Given the description of an element on the screen output the (x, y) to click on. 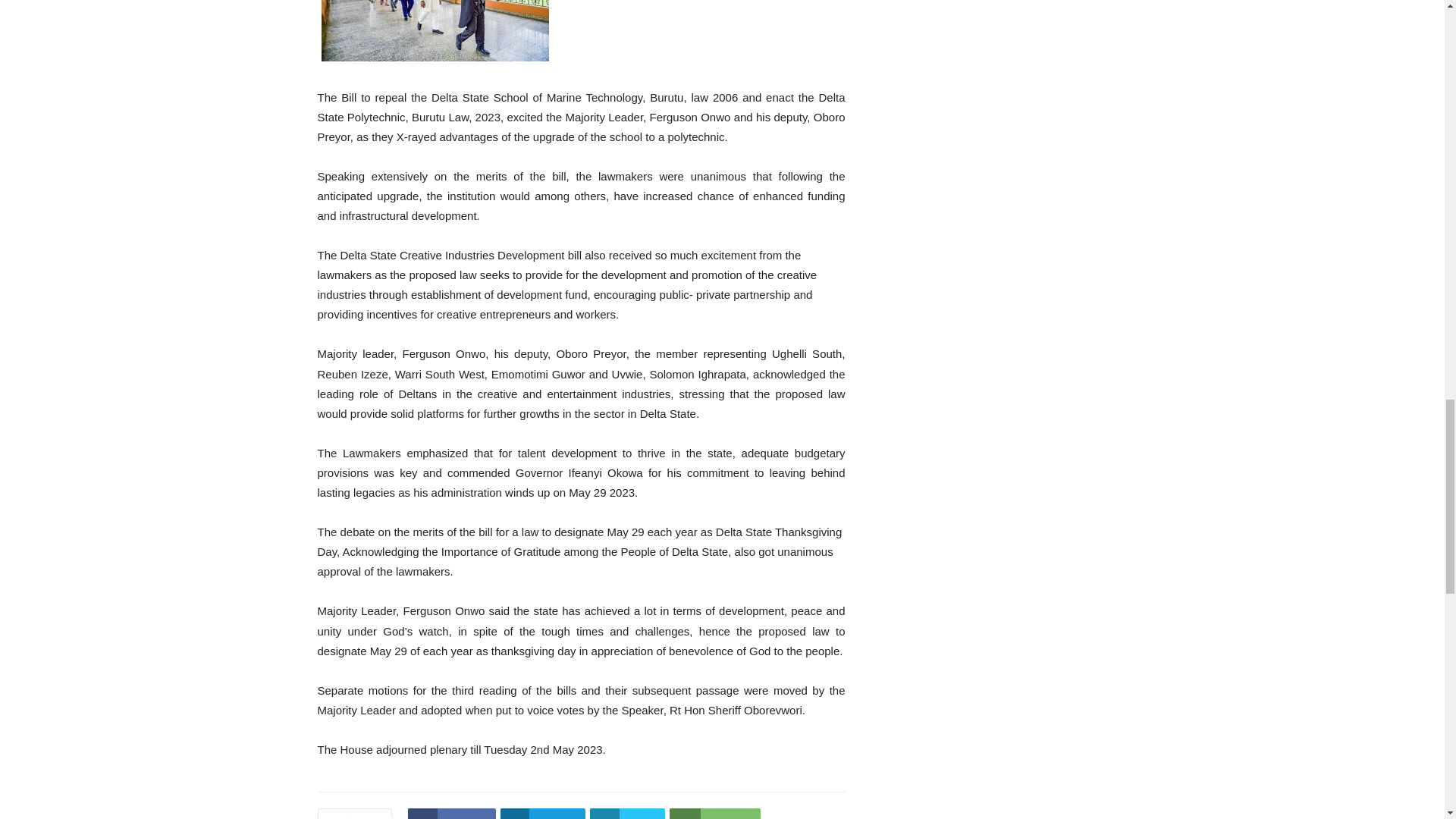
Twitter (627, 813)
Telegram (542, 813)
Twitter (627, 813)
WhatsApp (714, 813)
Facebook (451, 813)
Facebook (451, 813)
WhatsApp (714, 813)
Telegram (542, 813)
